Given the description of an element on the screen output the (x, y) to click on. 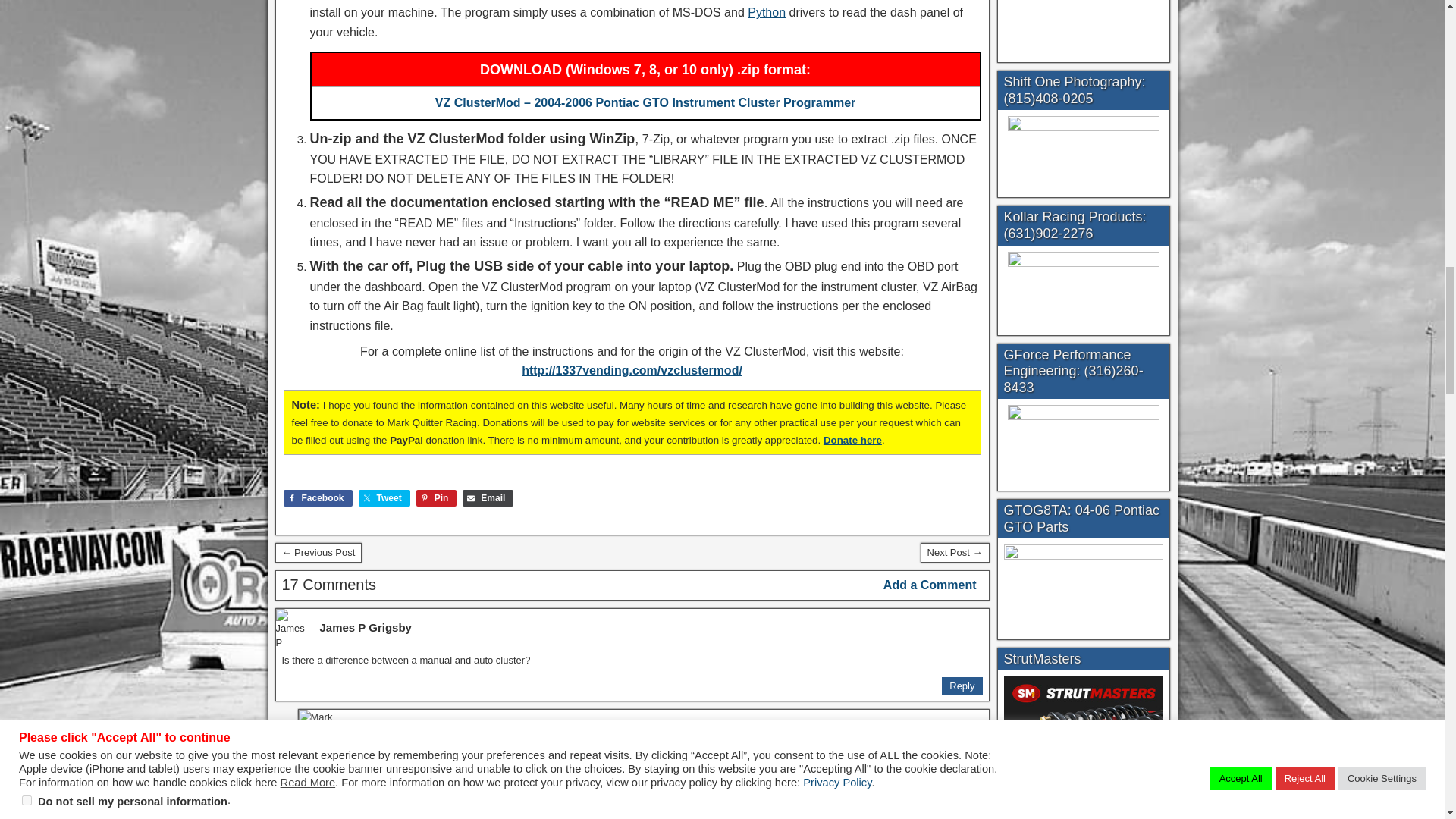
Share on Facebook (317, 497)
Secret Menu (955, 552)
Share via Email (488, 497)
Share on Twitter (384, 497)
Email (488, 497)
Share on Pinterest (436, 497)
For the GTO Community (318, 552)
